Given the description of an element on the screen output the (x, y) to click on. 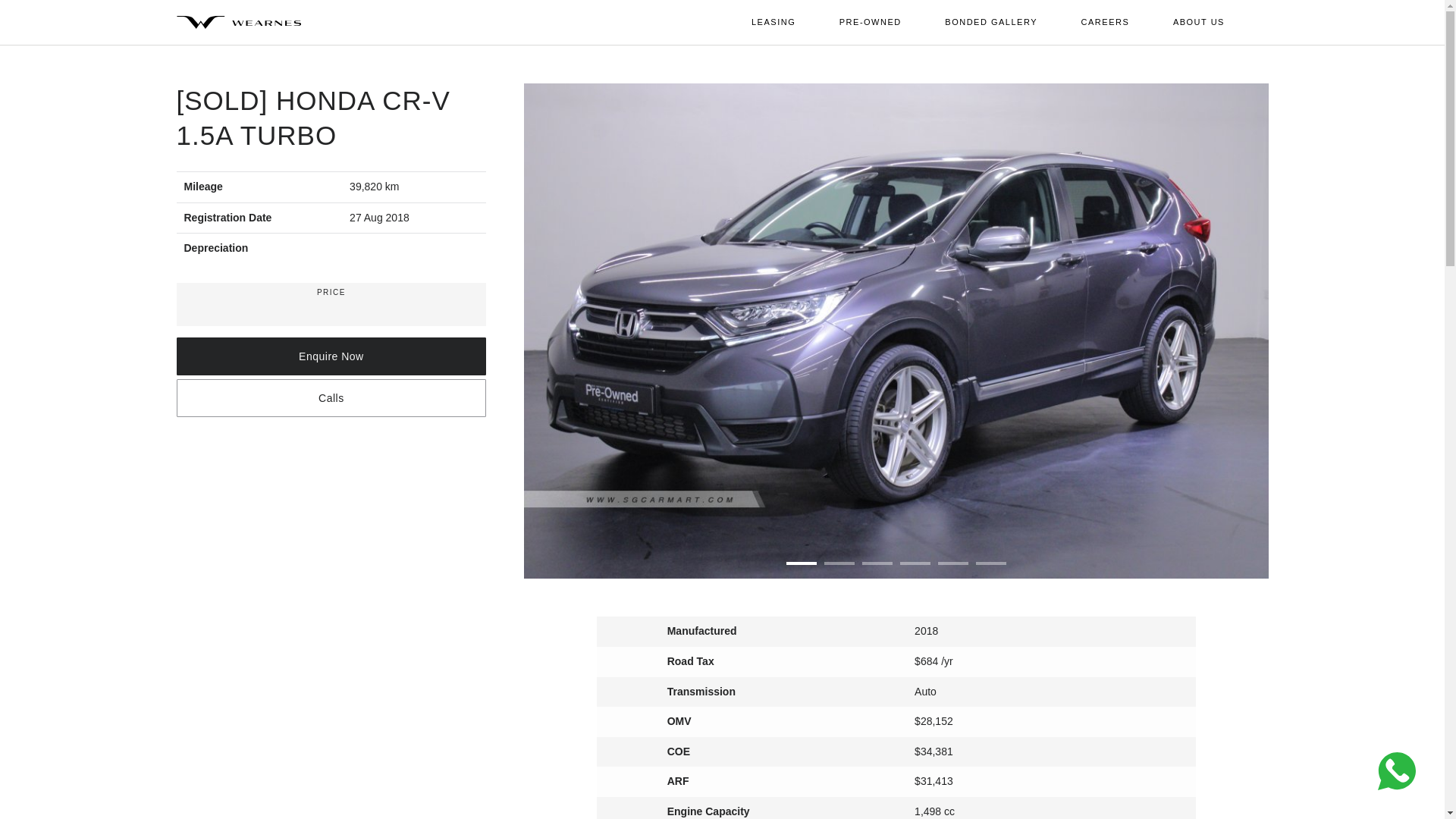
LEASING (772, 21)
CAREERS (1105, 21)
BONDED GALLERY (990, 21)
Enquire Now (331, 356)
PRE-OWNED (870, 21)
ABOUT US (1198, 21)
Calls (331, 397)
